Given the description of an element on the screen output the (x, y) to click on. 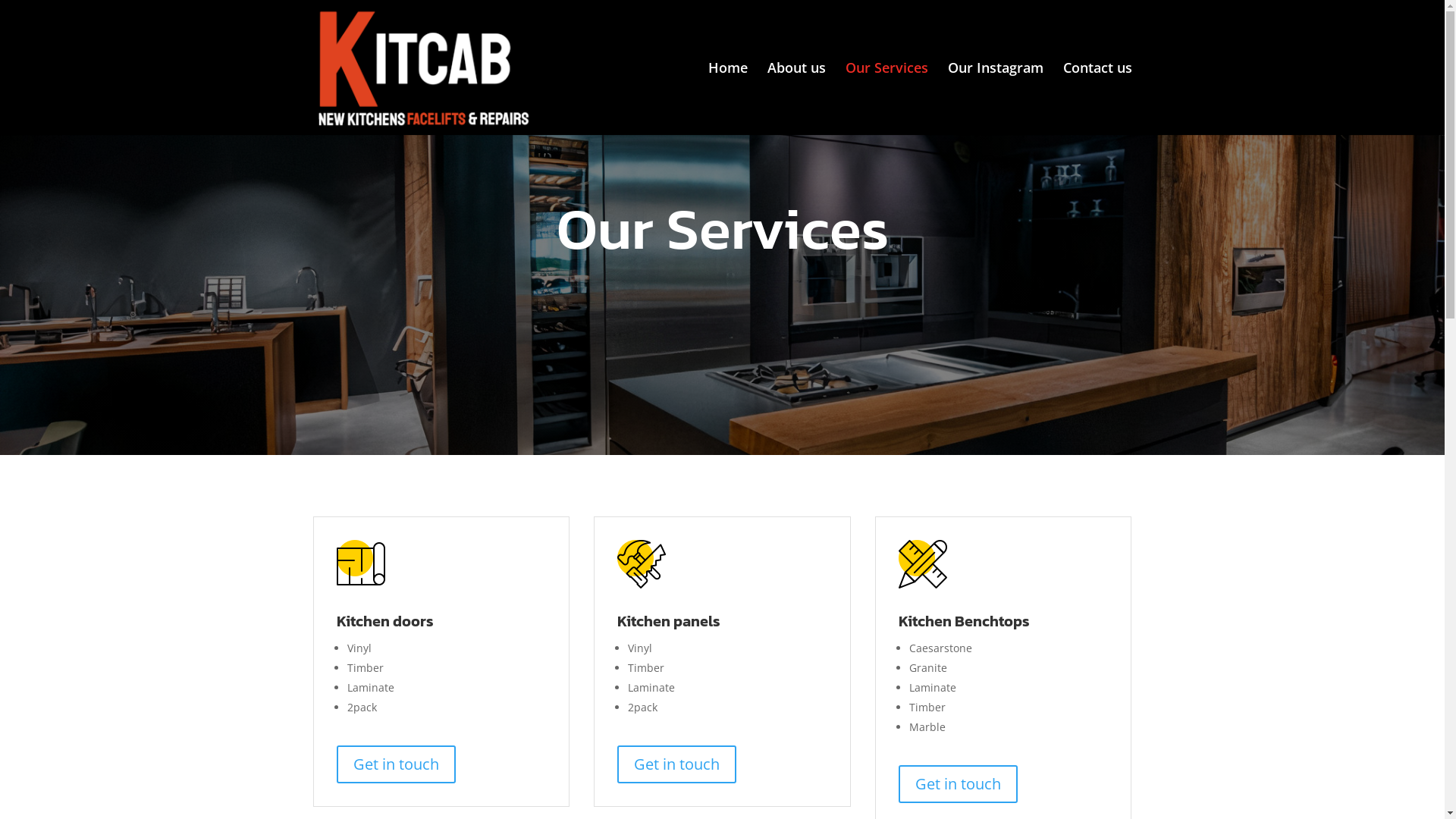
Get in touch Element type: text (676, 764)
About us Element type: text (796, 98)
Our Services Element type: text (885, 98)
Our Instagram Element type: text (995, 98)
Get in touch Element type: text (957, 784)
Get in touch Element type: text (395, 764)
Contact us Element type: text (1097, 98)
Home Element type: text (727, 98)
